Given the description of an element on the screen output the (x, y) to click on. 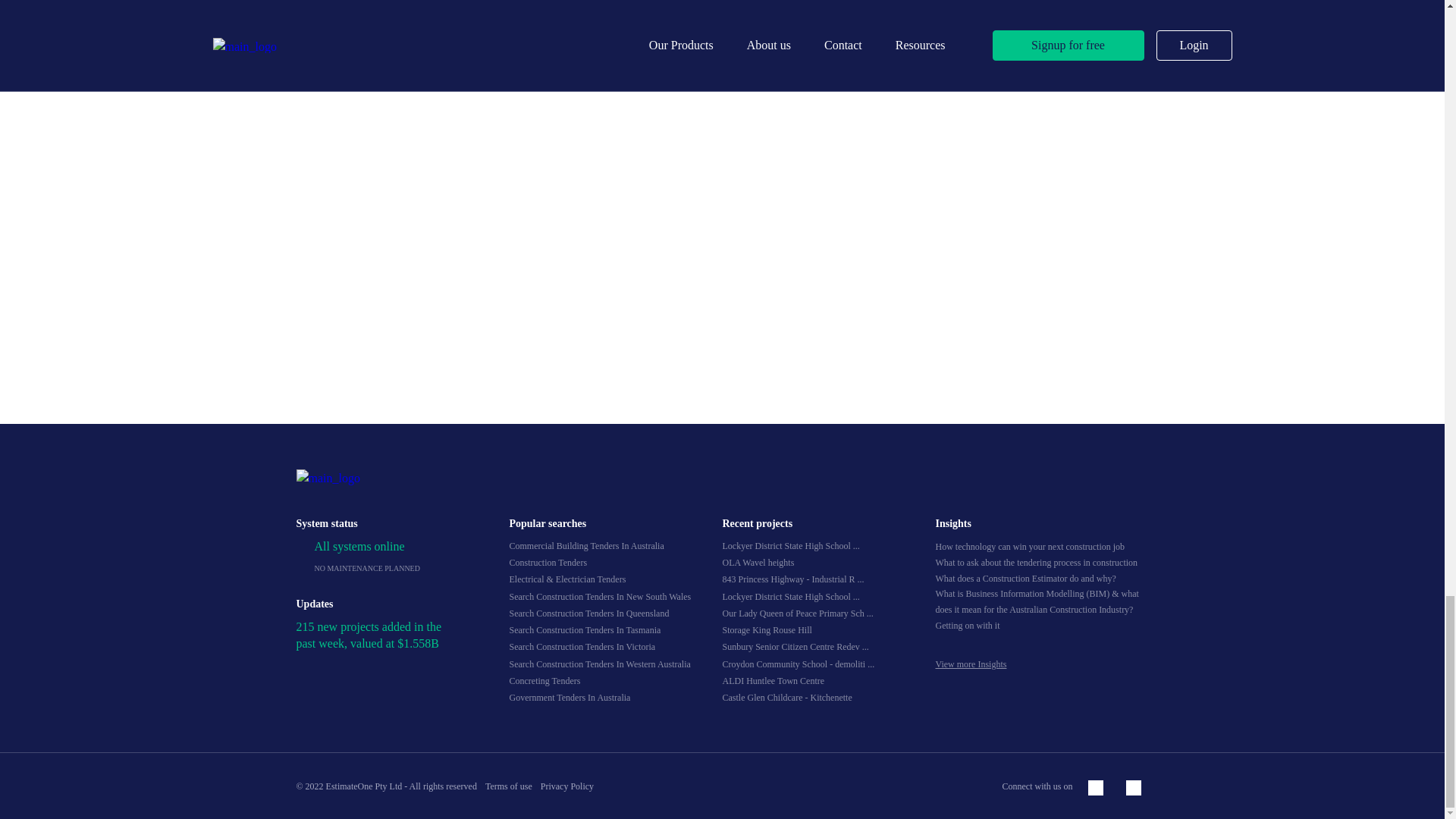
Croydon Community School - demolition package (798, 664)
Sunbury Senior Citizen Centre Redevelopment (794, 646)
843 Princess Highway - Industrial Redevelopment (792, 579)
All systems online (359, 545)
Search Construction Tenders In Tasmania (585, 629)
OLA Wavel heights (757, 562)
Follow Us on LinkedIn (1132, 787)
Government Tenders In Australia (569, 697)
Castle Glen Childcare - Kitchenette (786, 697)
Follow Us on Facebook (1094, 787)
